Given the description of an element on the screen output the (x, y) to click on. 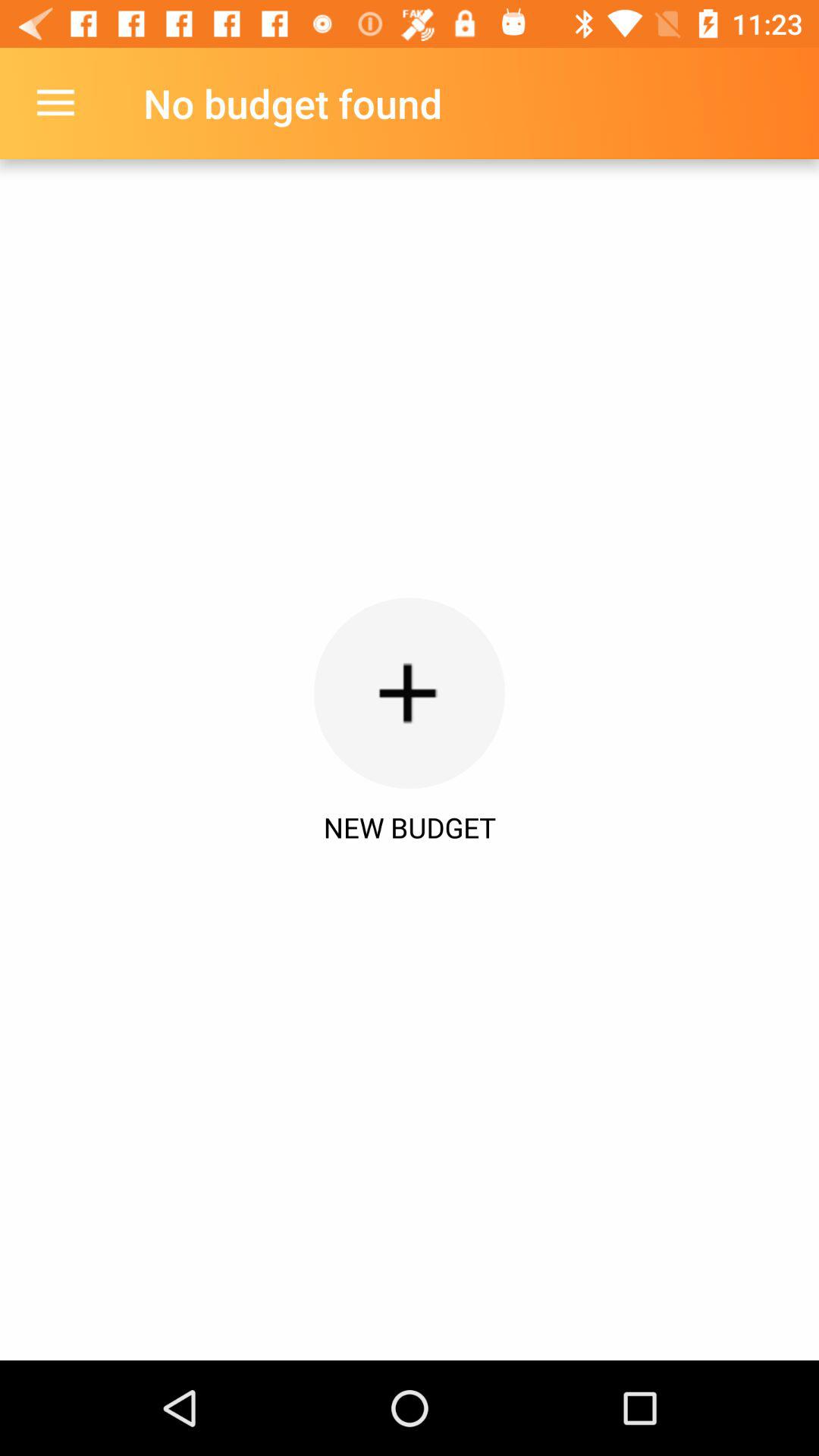
launch new budget item (409, 827)
